Given the description of an element on the screen output the (x, y) to click on. 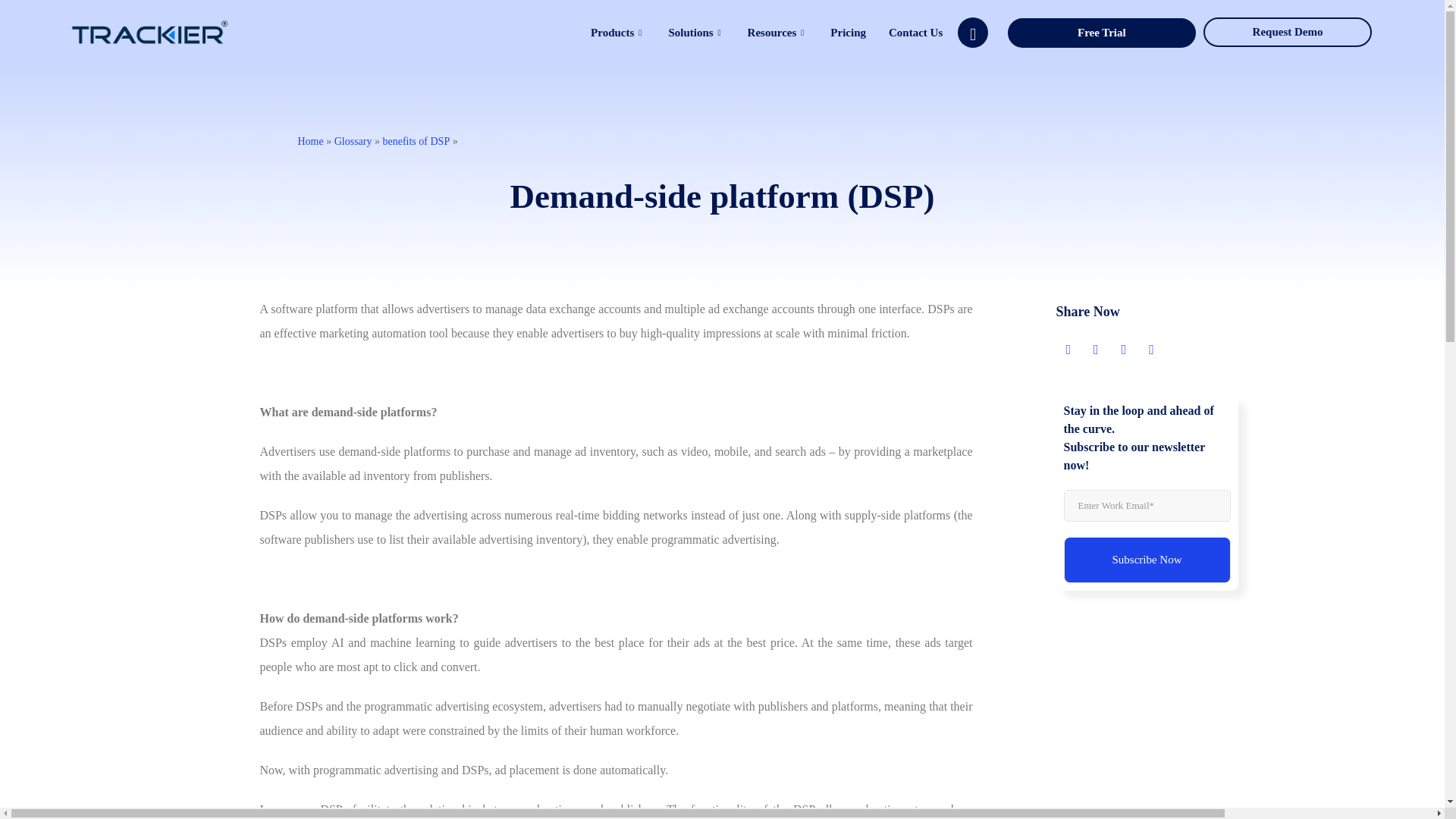
Products (617, 32)
Solutions (695, 32)
